Given the description of an element on the screen output the (x, y) to click on. 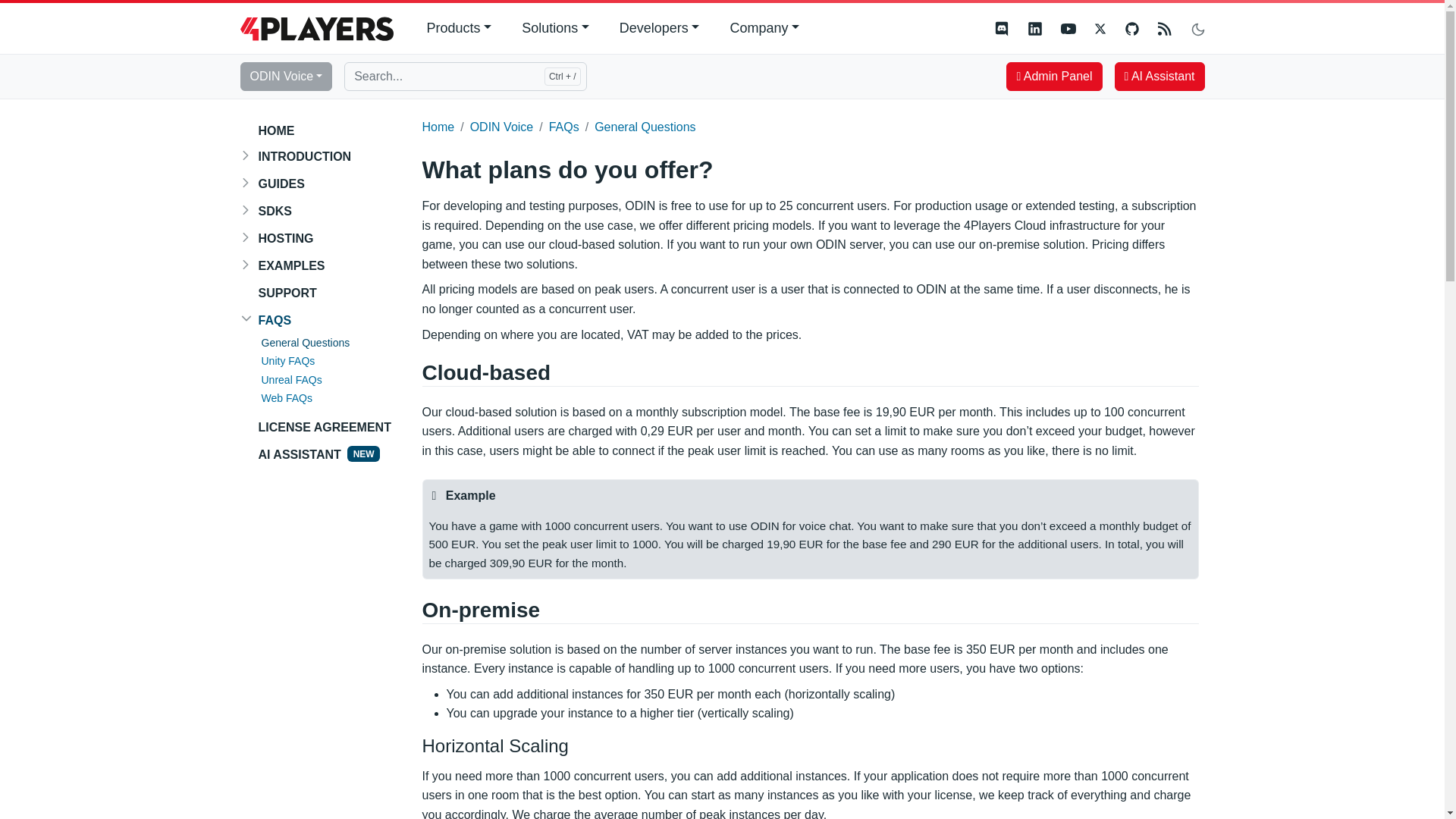
Products (458, 28)
Solutions (555, 28)
Developers (659, 28)
Company (763, 28)
